Given the description of an element on the screen output the (x, y) to click on. 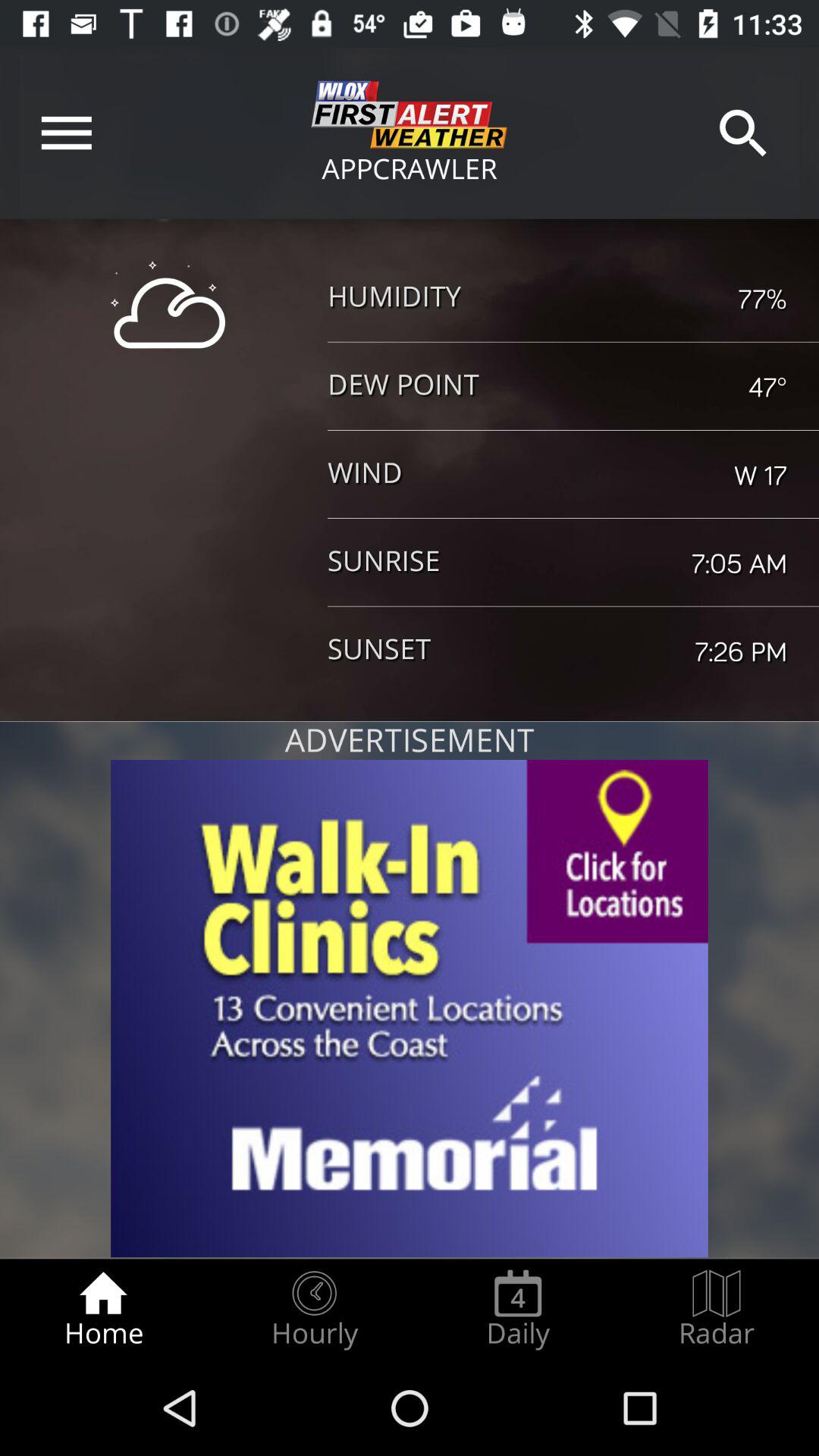
launch the daily item (518, 1309)
